Given the description of an element on the screen output the (x, y) to click on. 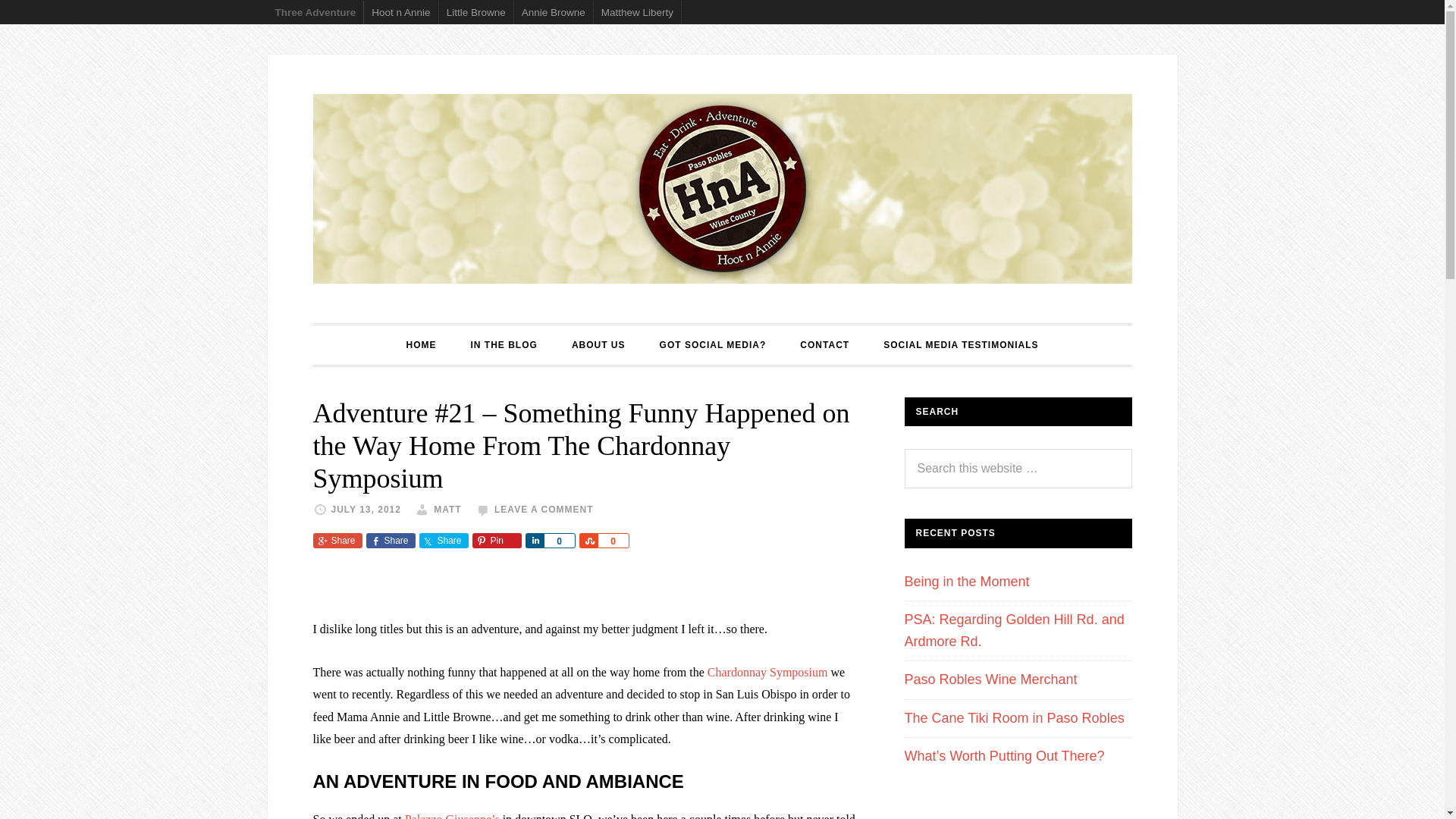
Hoot n Annie (401, 12)
GOT SOCIAL MEDIA? (713, 344)
Annie Browne (553, 12)
Share (533, 540)
0 (559, 540)
ABOUT US (598, 344)
MATT (447, 509)
Share (337, 540)
LEAVE A COMMENT (544, 509)
Three Adventure (315, 12)
Share (443, 540)
Little Browne (476, 12)
IN THE BLOG (504, 344)
Chardonnay Symposium (767, 671)
